Given the description of an element on the screen output the (x, y) to click on. 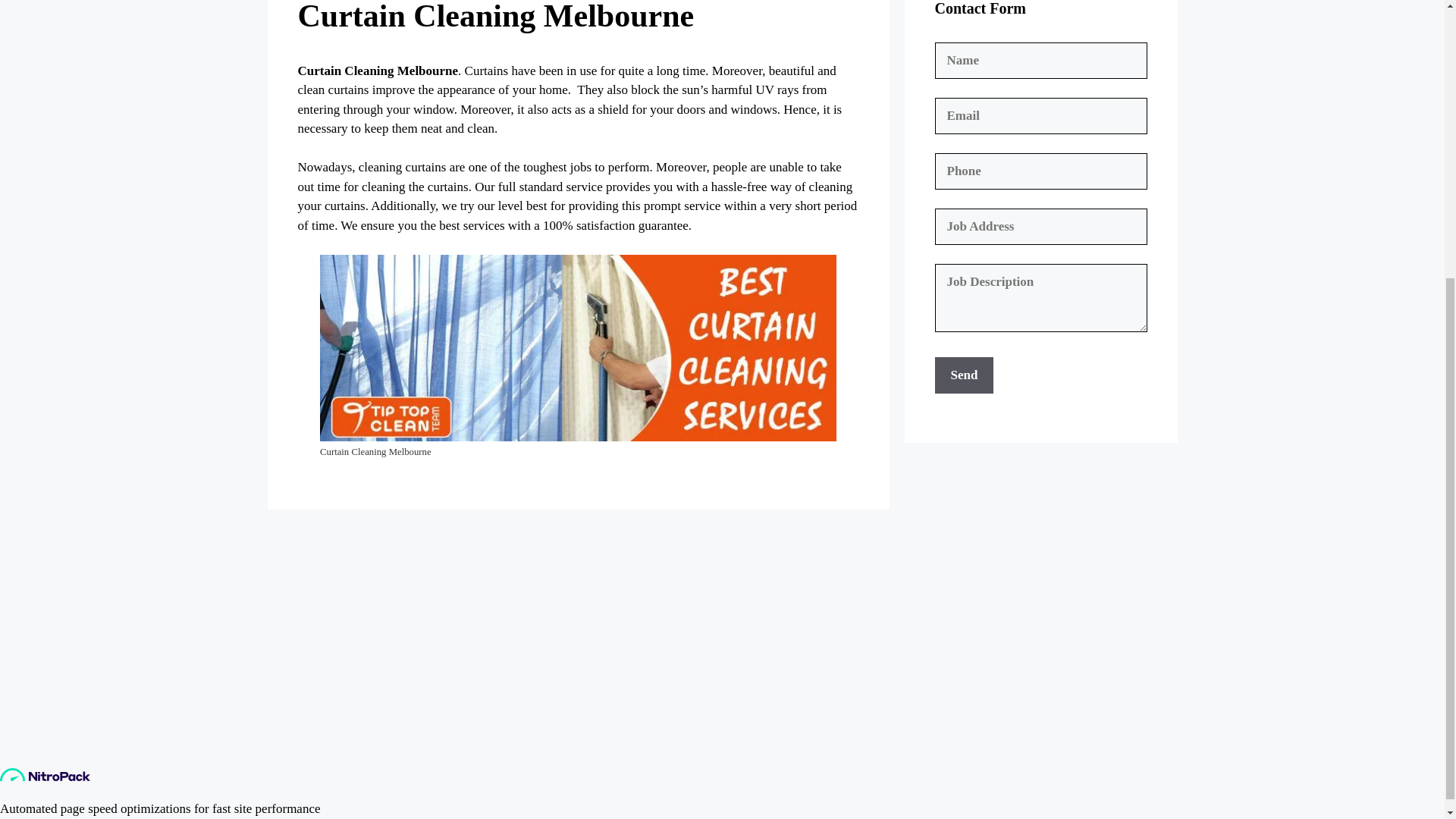
Send (963, 375)
Send (963, 375)
